Given the description of an element on the screen output the (x, y) to click on. 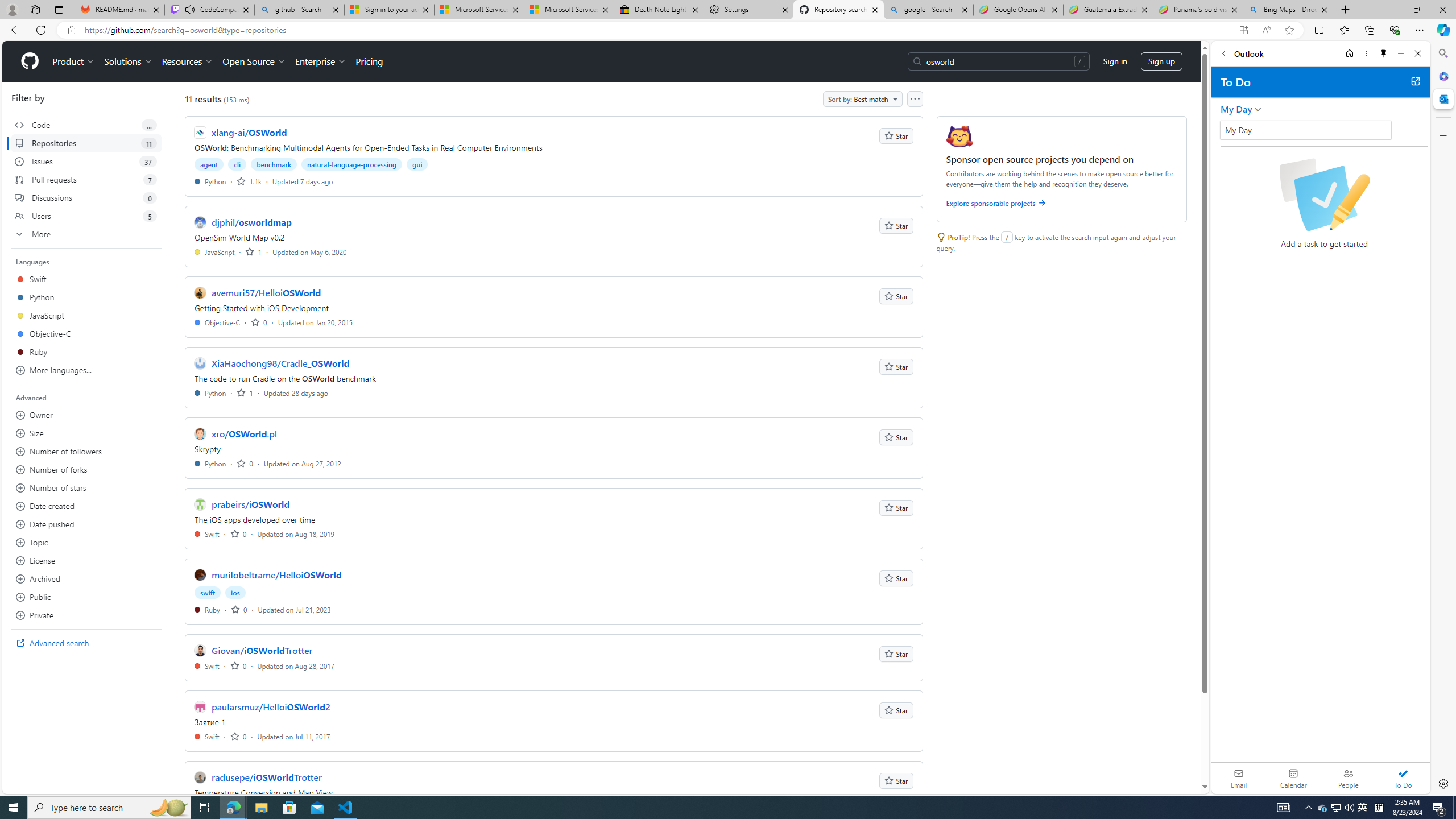
prabeirs/iOSWorld (250, 504)
App available. Install GitHub (1243, 29)
0 stars (238, 736)
Resources (187, 60)
Resources (187, 60)
Pricing (368, 60)
